Given the description of an element on the screen output the (x, y) to click on. 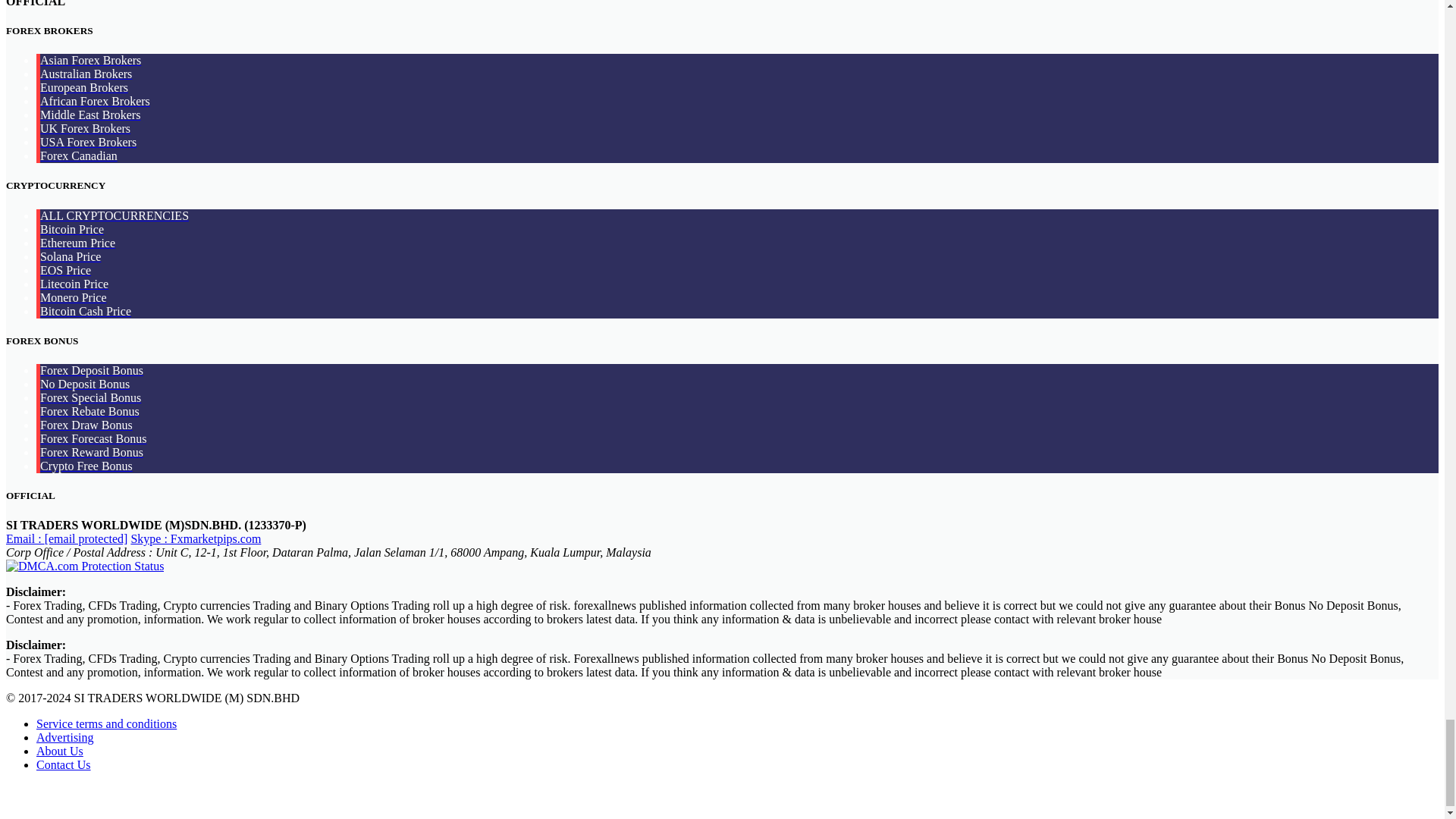
DMCA.com Protection Status (84, 565)
